Given the description of an element on the screen output the (x, y) to click on. 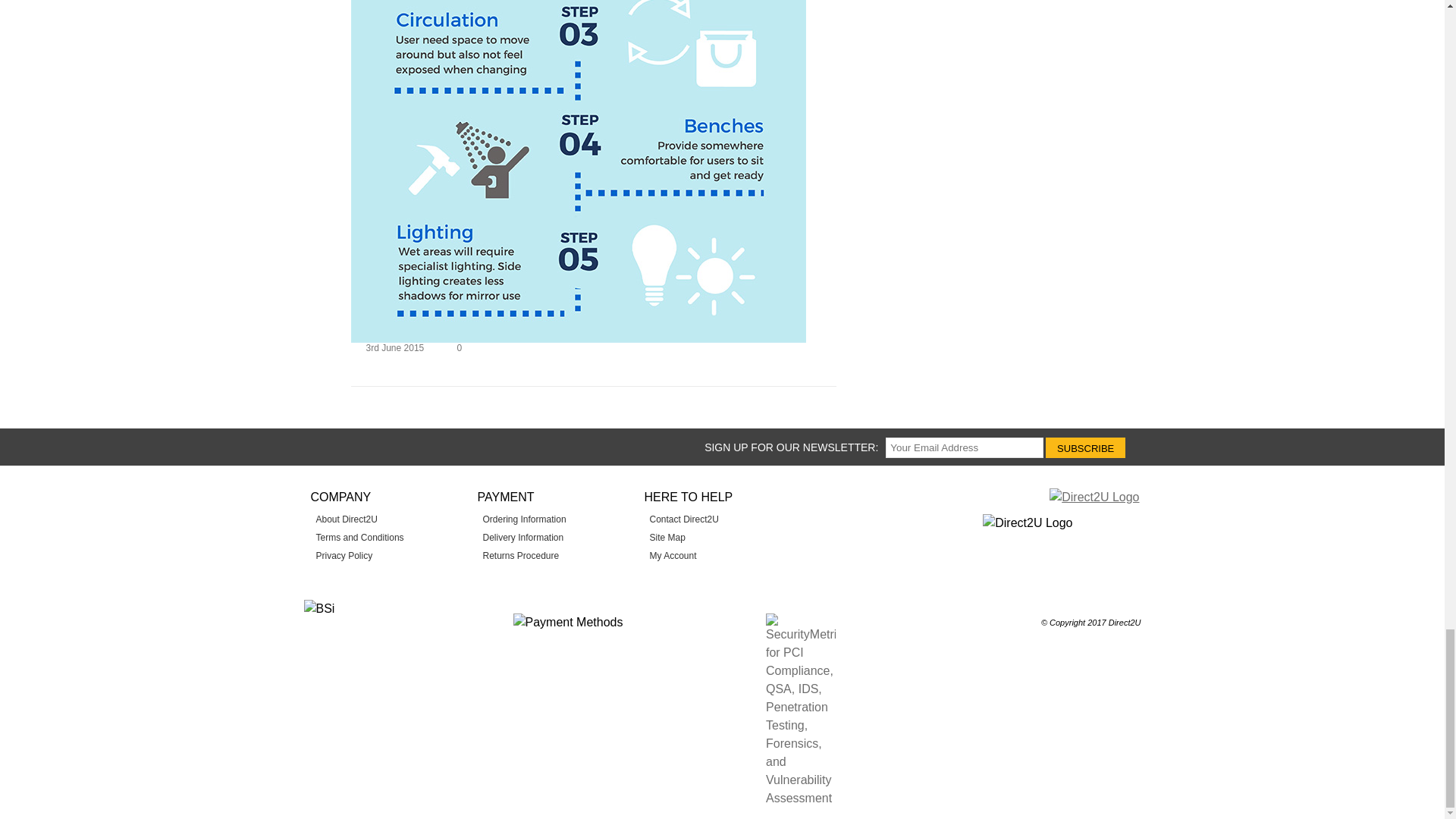
Direct2U Pinterest (414, 446)
3rd June 2015 (394, 347)
Direct2U Facebook (328, 446)
Direct2U Linkedin (443, 446)
Direct2U Twitter (357, 446)
Direct2U Youtube (385, 446)
Sign up for our newsletter (964, 447)
Subscribe (1085, 447)
